Given the description of an element on the screen output the (x, y) to click on. 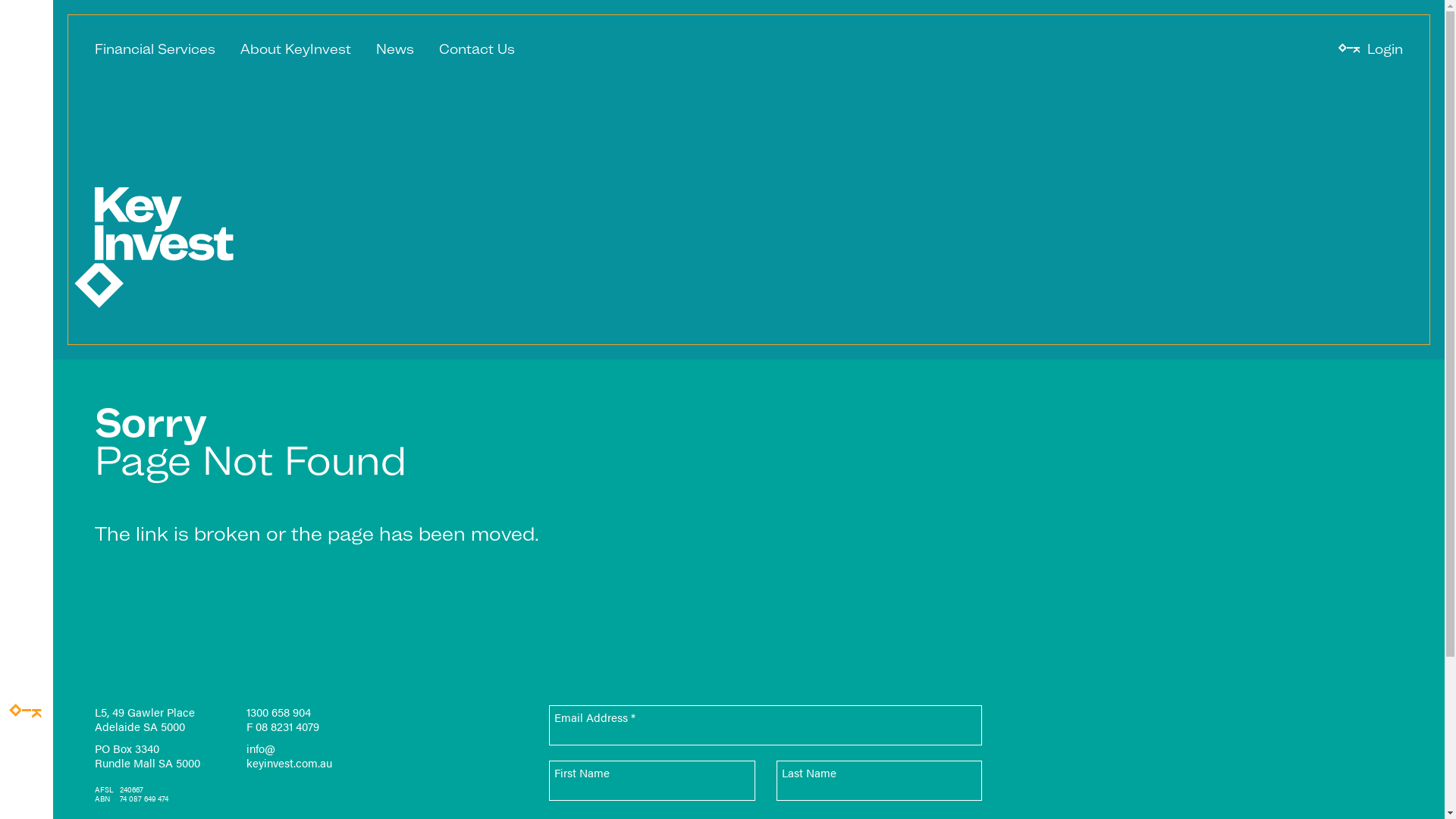
L5, 49 Gawler Place
Adelaide SA 5000 Element type: text (144, 718)
Financial Services Element type: text (154, 48)
info@
keyinvest.com.au Element type: text (289, 755)
KeyInvest Home Element type: text (26, 716)
KeyInvest Element type: text (163, 245)
About KeyInvest Element type: text (295, 48)
News Element type: text (395, 48)
Login Element type: text (1384, 48)
Contact Us Element type: text (476, 48)
